Given the description of an element on the screen output the (x, y) to click on. 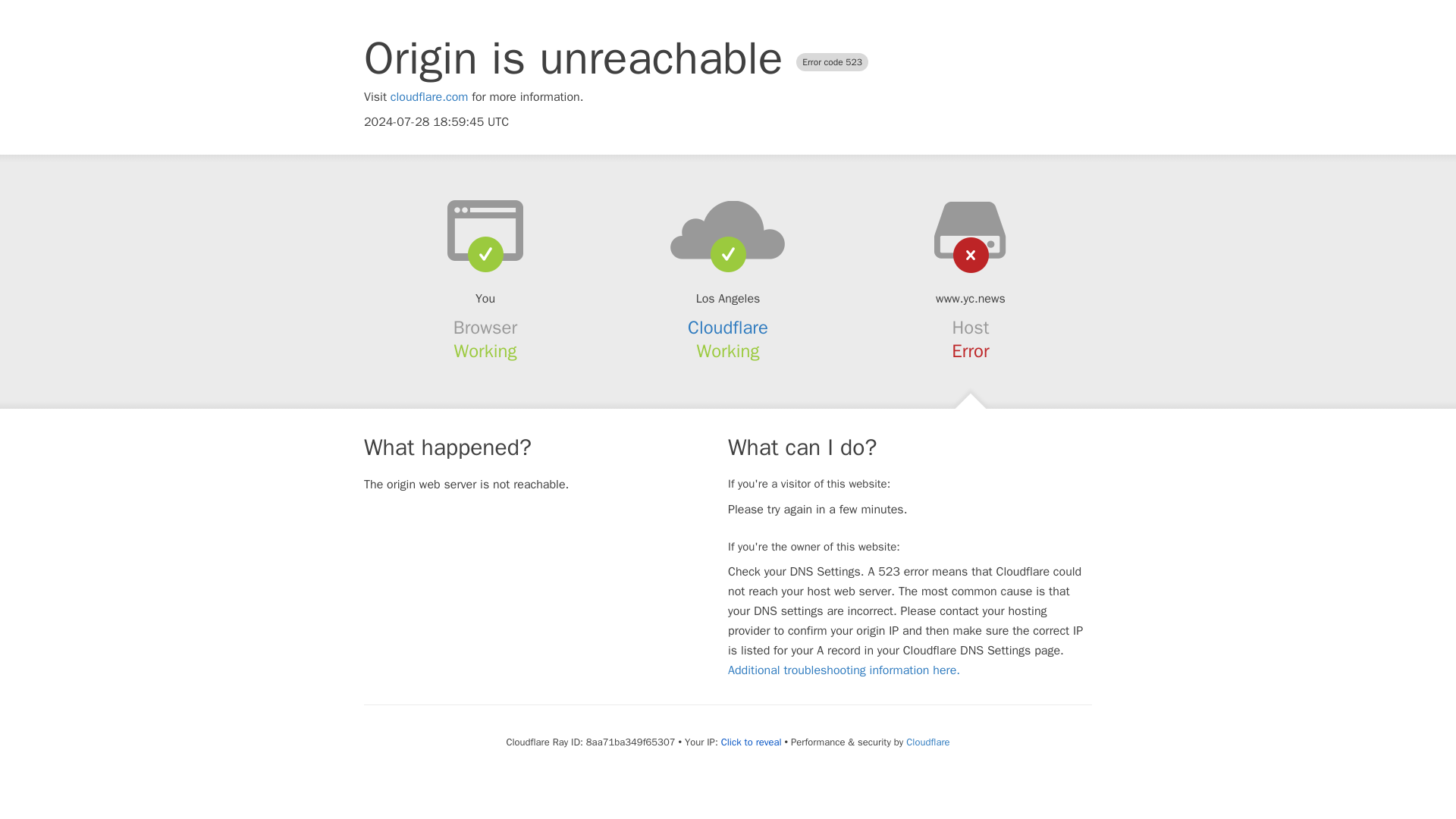
Additional troubleshooting information here. (843, 670)
Cloudflare (927, 741)
cloudflare.com (429, 96)
Cloudflare (727, 327)
Click to reveal (750, 742)
